Given the description of an element on the screen output the (x, y) to click on. 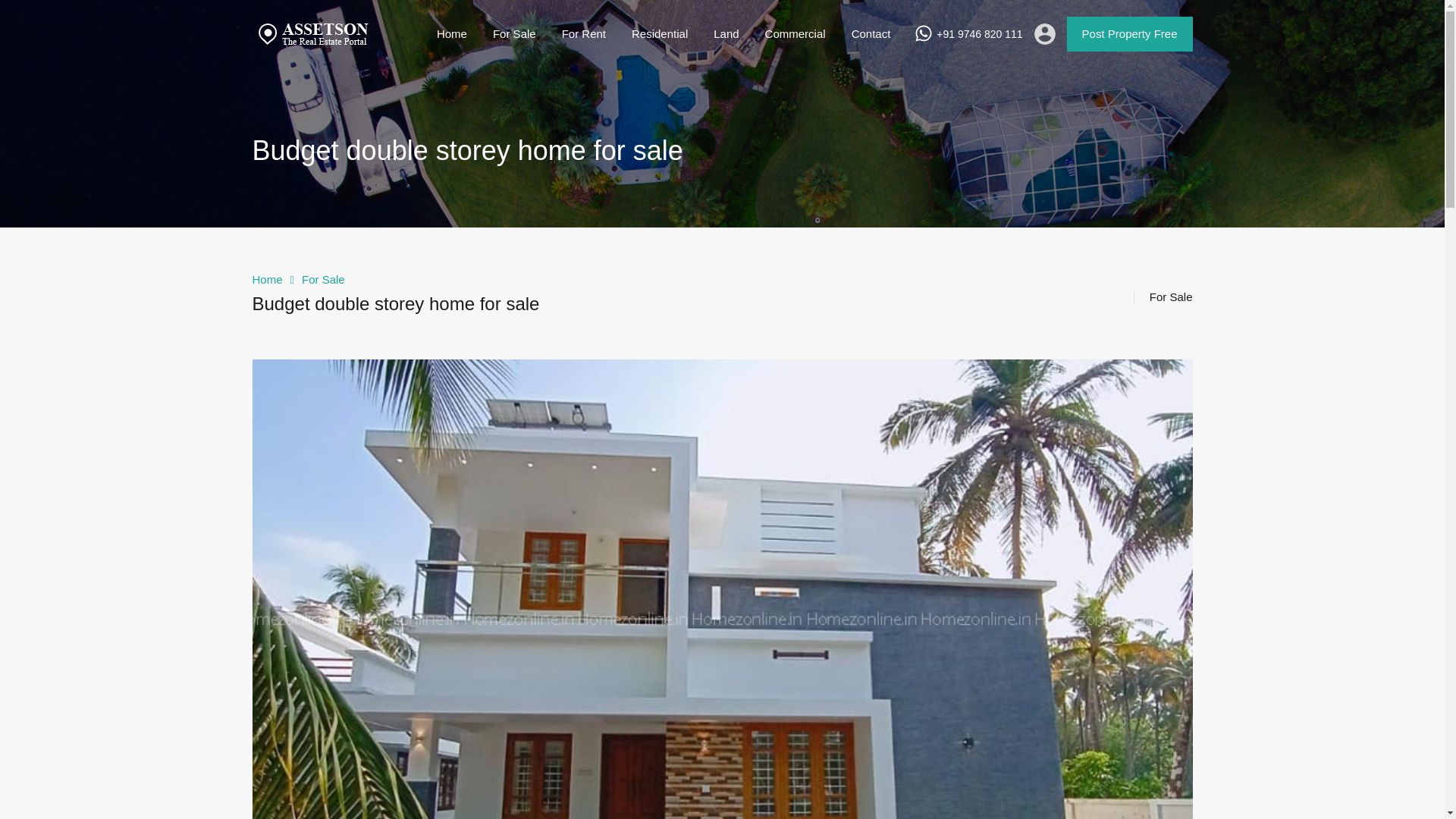
For Sale (514, 34)
Assetson (311, 45)
Home (451, 34)
